Given the description of an element on the screen output the (x, y) to click on. 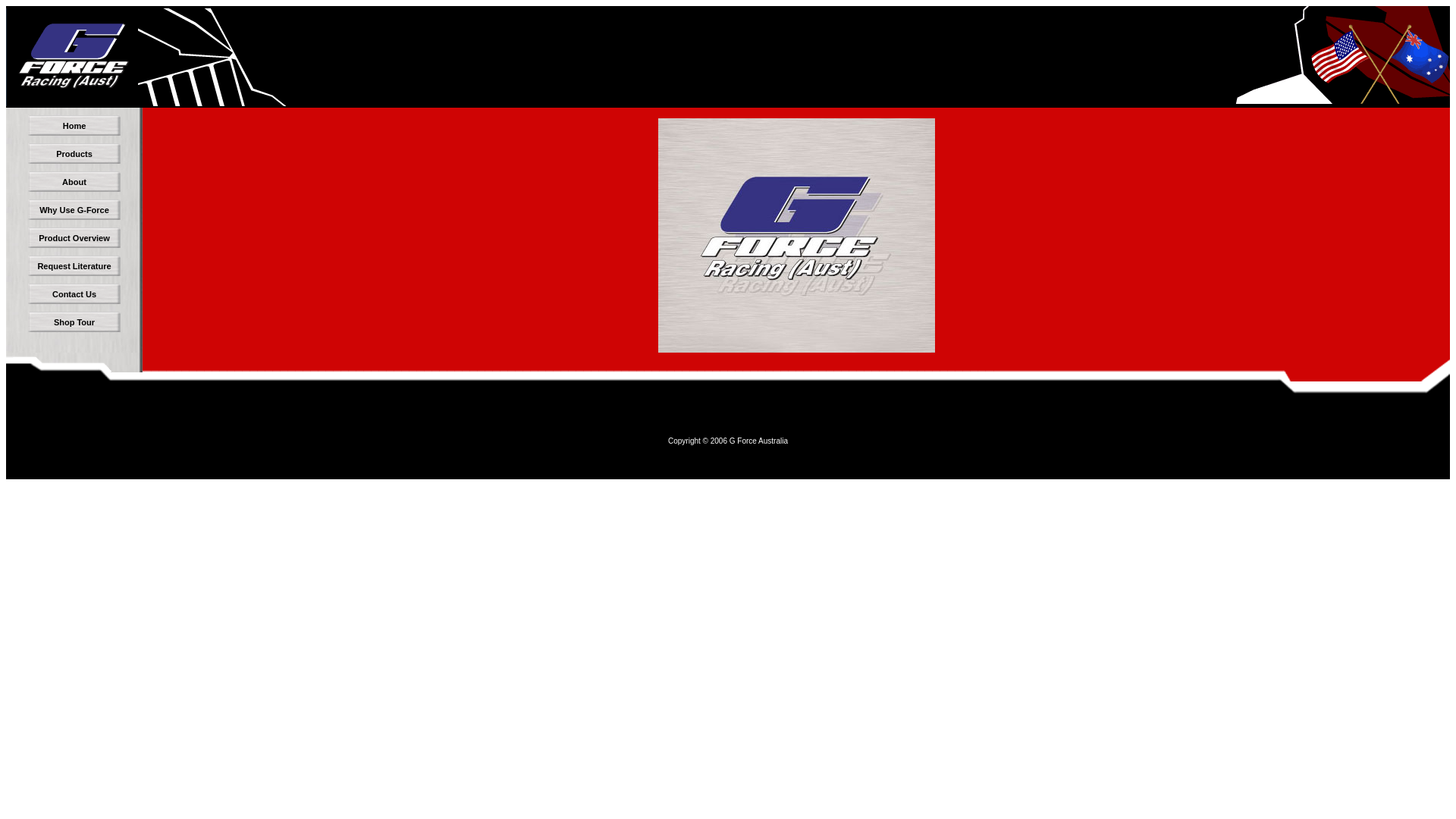
Shop Tour Element type: text (73, 321)
Product Overview Element type: text (73, 237)
Why Use G-Force Element type: text (74, 208)
Contact Us Element type: text (74, 293)
Home Element type: text (74, 125)
About Element type: text (74, 181)
Request Literature Element type: text (73, 264)
Products Element type: text (74, 152)
